Given the description of an element on the screen output the (x, y) to click on. 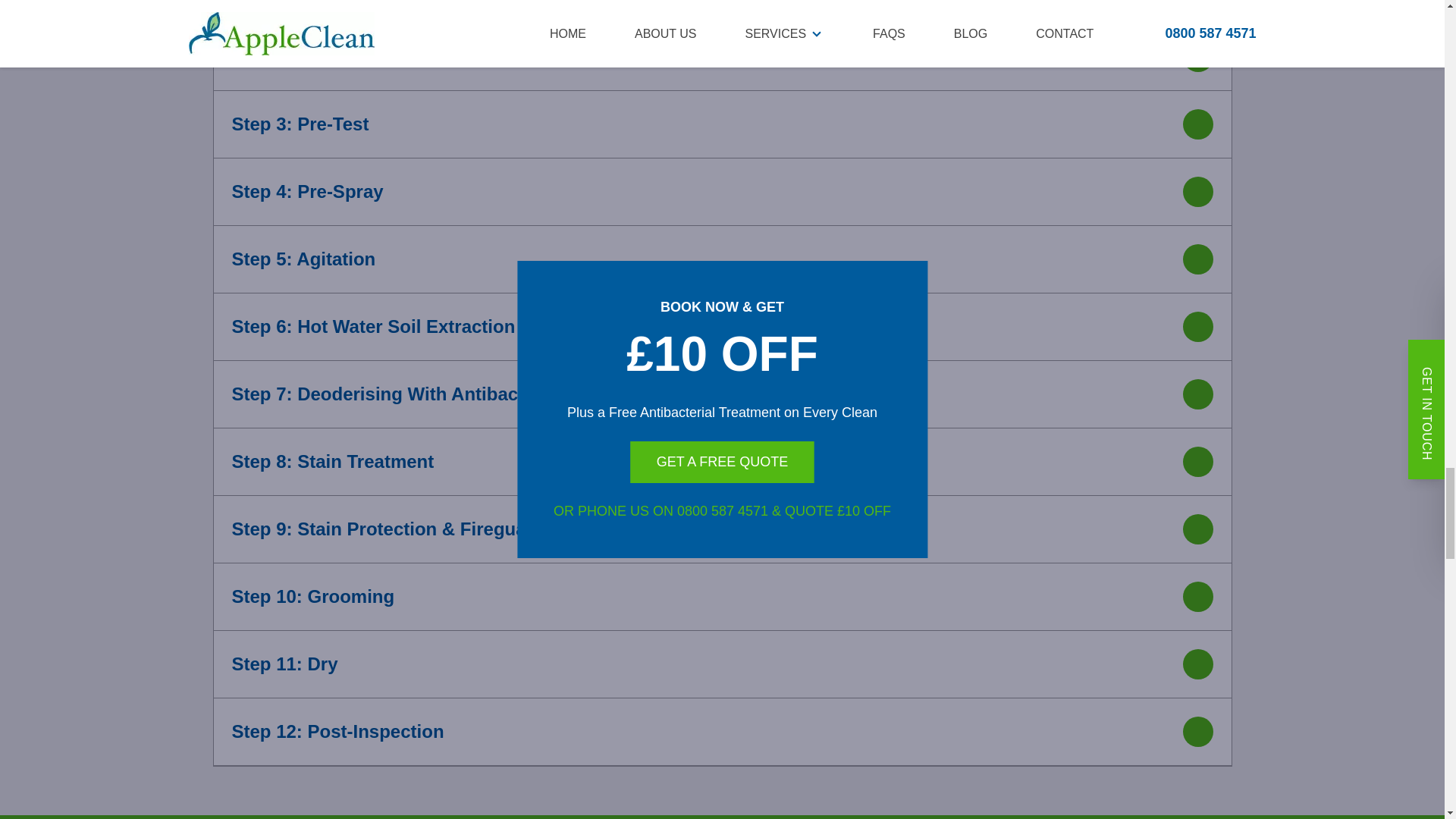
Accordion Toggle (1198, 664)
Accordion Toggle (1198, 731)
Accordion Toggle (1198, 461)
Accordion Toggle (1198, 124)
Accordion Toggle (1198, 529)
Accordion Toggle (1198, 191)
Accordion Toggle (1198, 326)
Accordion Toggle (1198, 259)
Accordion Toggle (1198, 393)
Accordion Toggle (1198, 597)
Accordion Toggle (1198, 56)
